Given the description of an element on the screen output the (x, y) to click on. 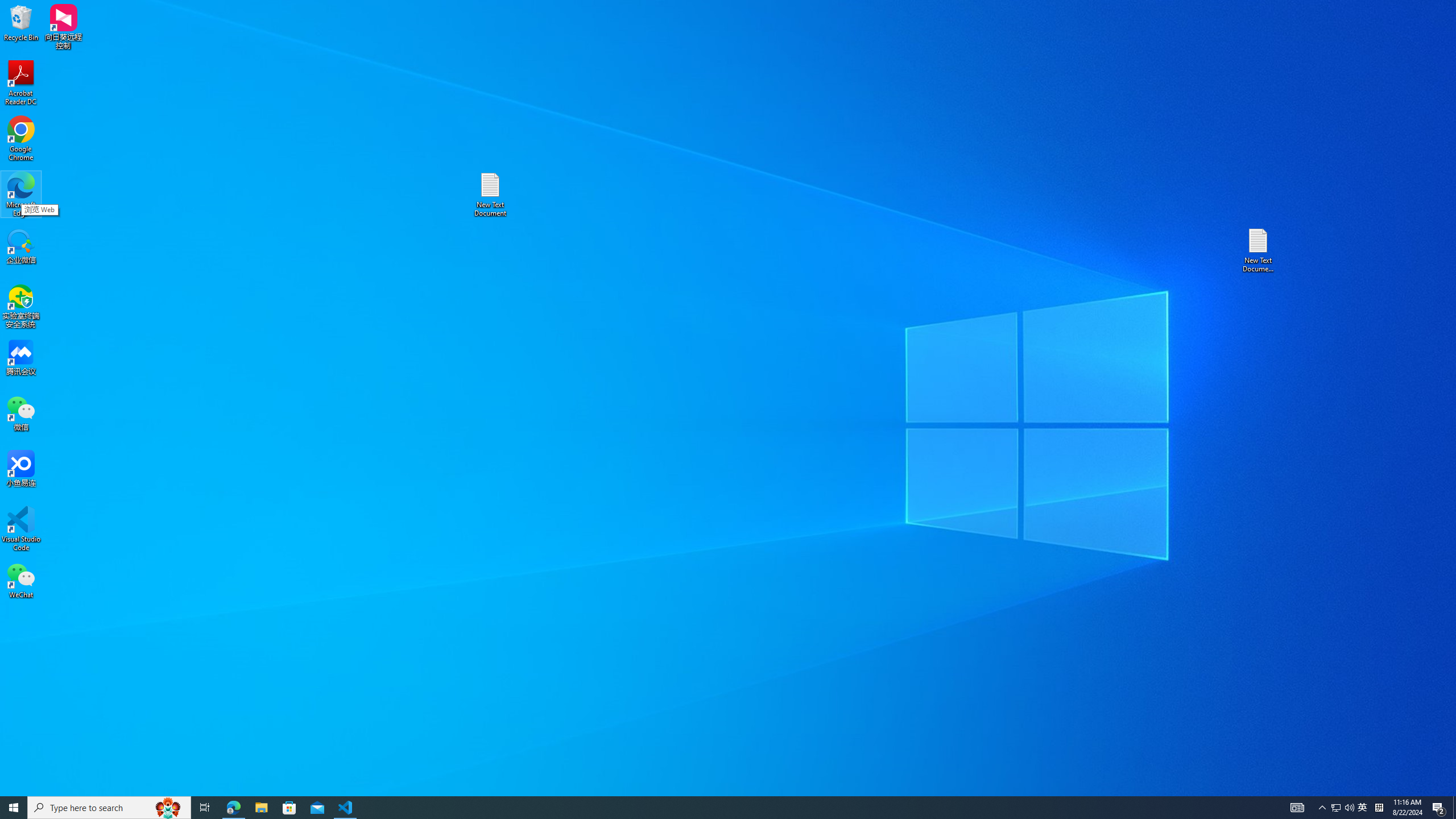
Acrobat Reader DC (21, 82)
New Text Document (489, 194)
WeChat (21, 580)
Visual Studio Code (21, 528)
Running applications (707, 807)
Recycle Bin (21, 22)
